Given the description of an element on the screen output the (x, y) to click on. 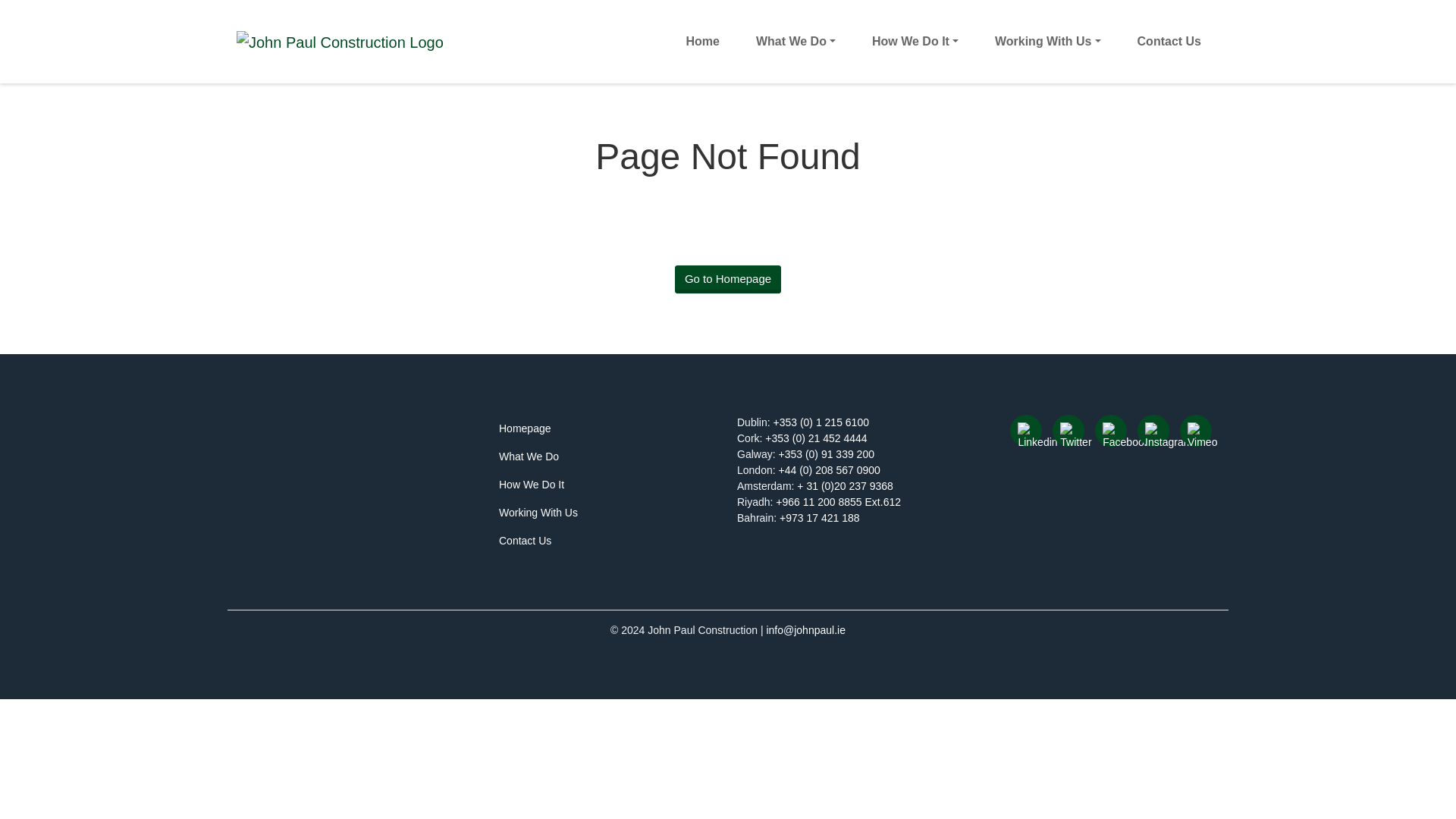
Home (702, 41)
Contact Us (1168, 41)
How We Do It (914, 41)
Working With Us (1048, 41)
What We Do (796, 41)
Go to Homepage (727, 279)
